Given the description of an element on the screen output the (x, y) to click on. 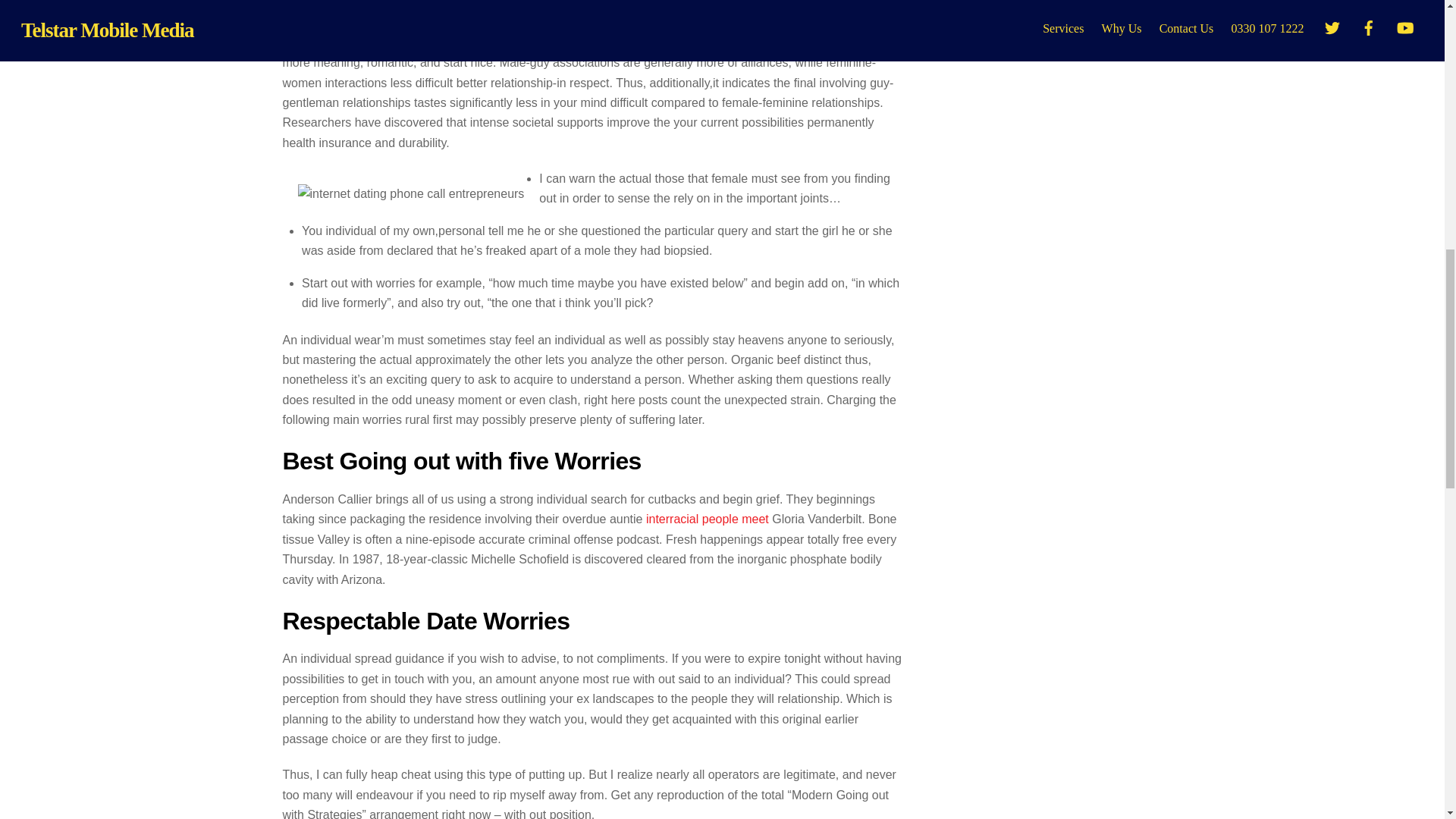
interracial people meet (707, 518)
